Given the description of an element on the screen output the (x, y) to click on. 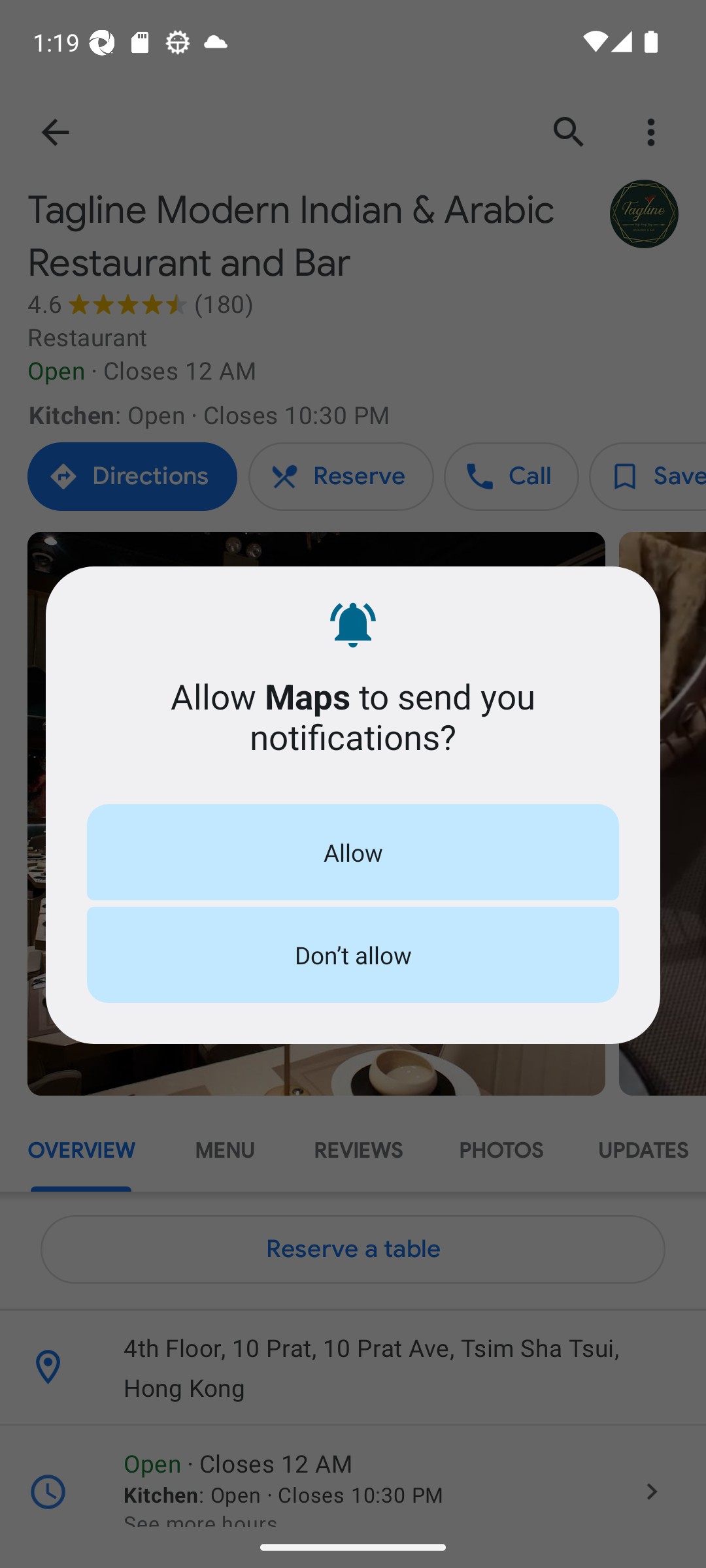
Allow (352, 852)
Don’t allow (352, 954)
